Given the description of an element on the screen output the (x, y) to click on. 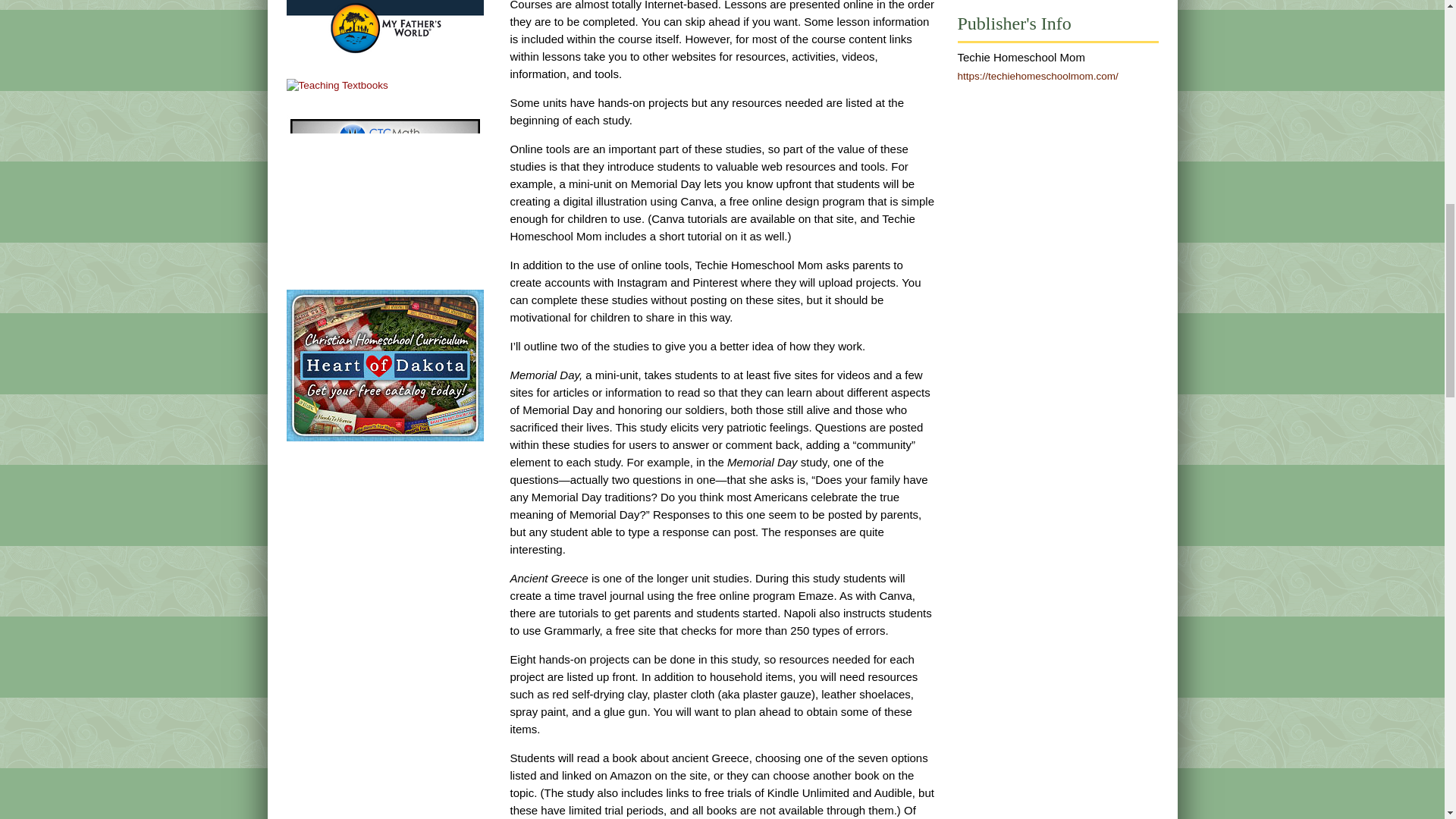
Teaching Textbooks (337, 84)
Heart of Dakota (384, 365)
chris (384, 190)
